Given the description of an element on the screen output the (x, y) to click on. 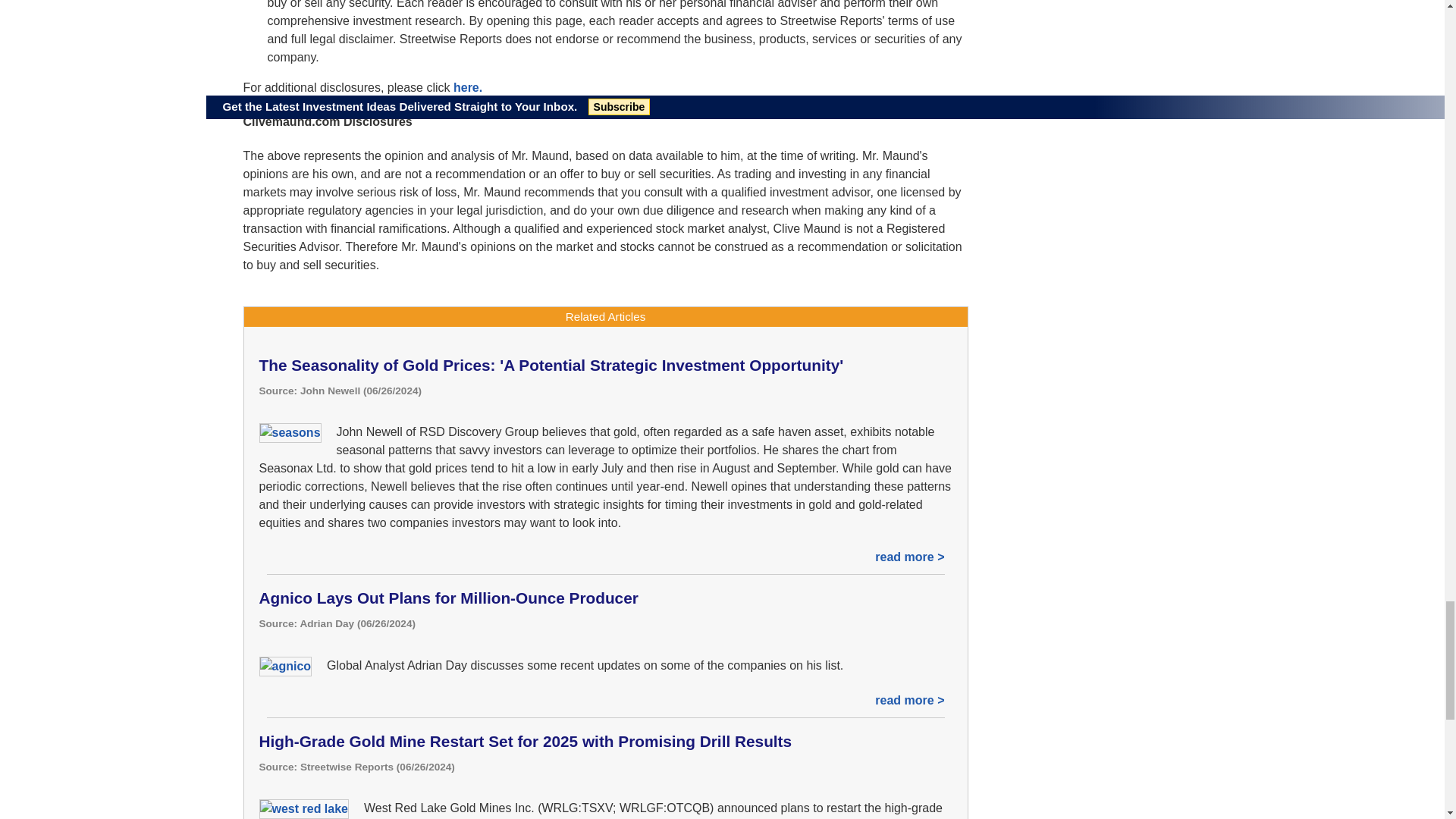
agnico (286, 666)
here. (466, 87)
west red lake (304, 809)
seasons (290, 433)
